Given the description of an element on the screen output the (x, y) to click on. 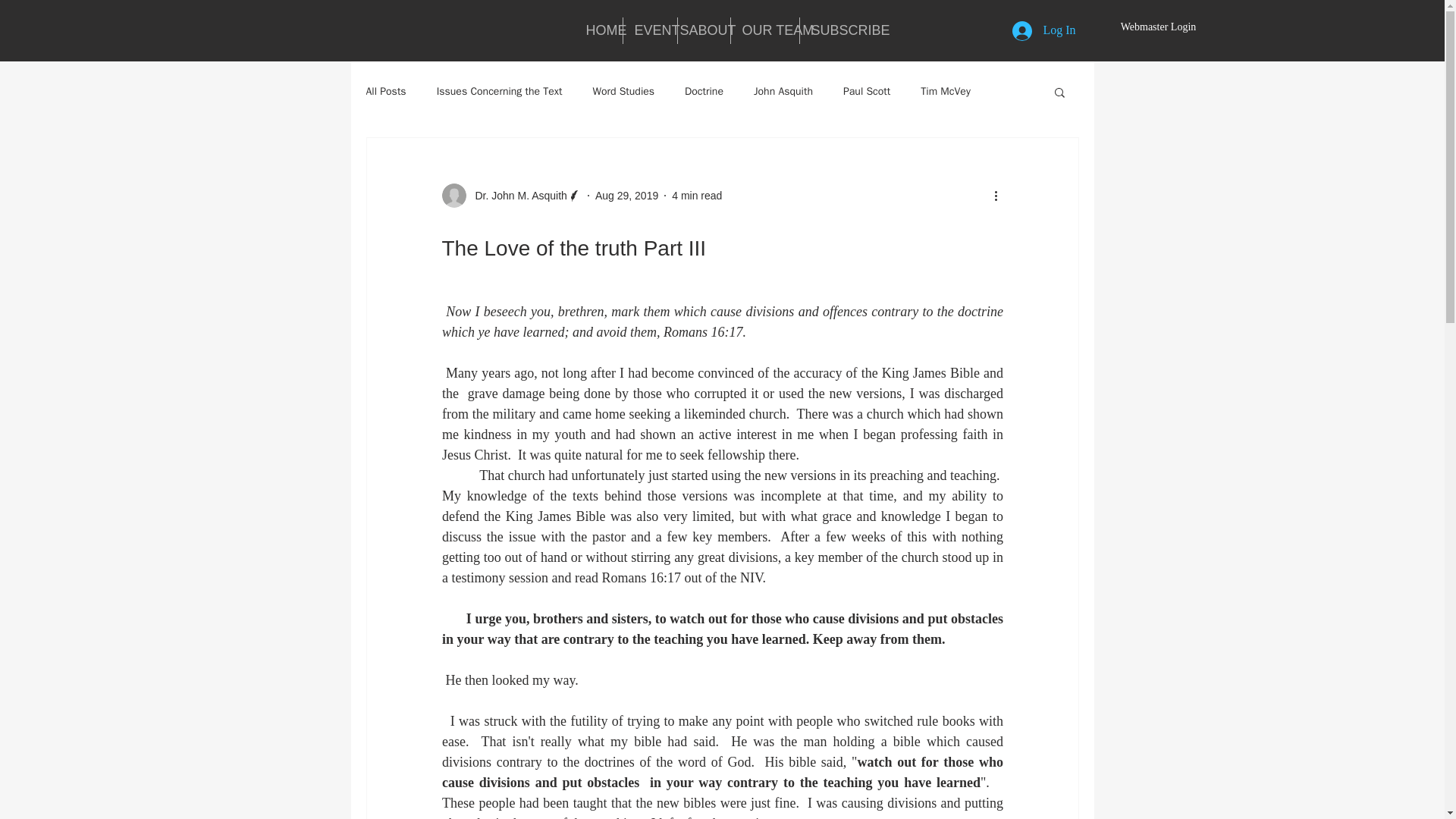
Paul Scott (866, 91)
SUBSCRIBE (834, 30)
Issues Concerning the Text (499, 91)
Tim McVey (944, 91)
HOME (599, 30)
All Posts (385, 91)
OUR TEAM (764, 30)
EVENTS (650, 30)
Dr. John M. Asquith (515, 195)
Log In (1043, 30)
